Given the description of an element on the screen output the (x, y) to click on. 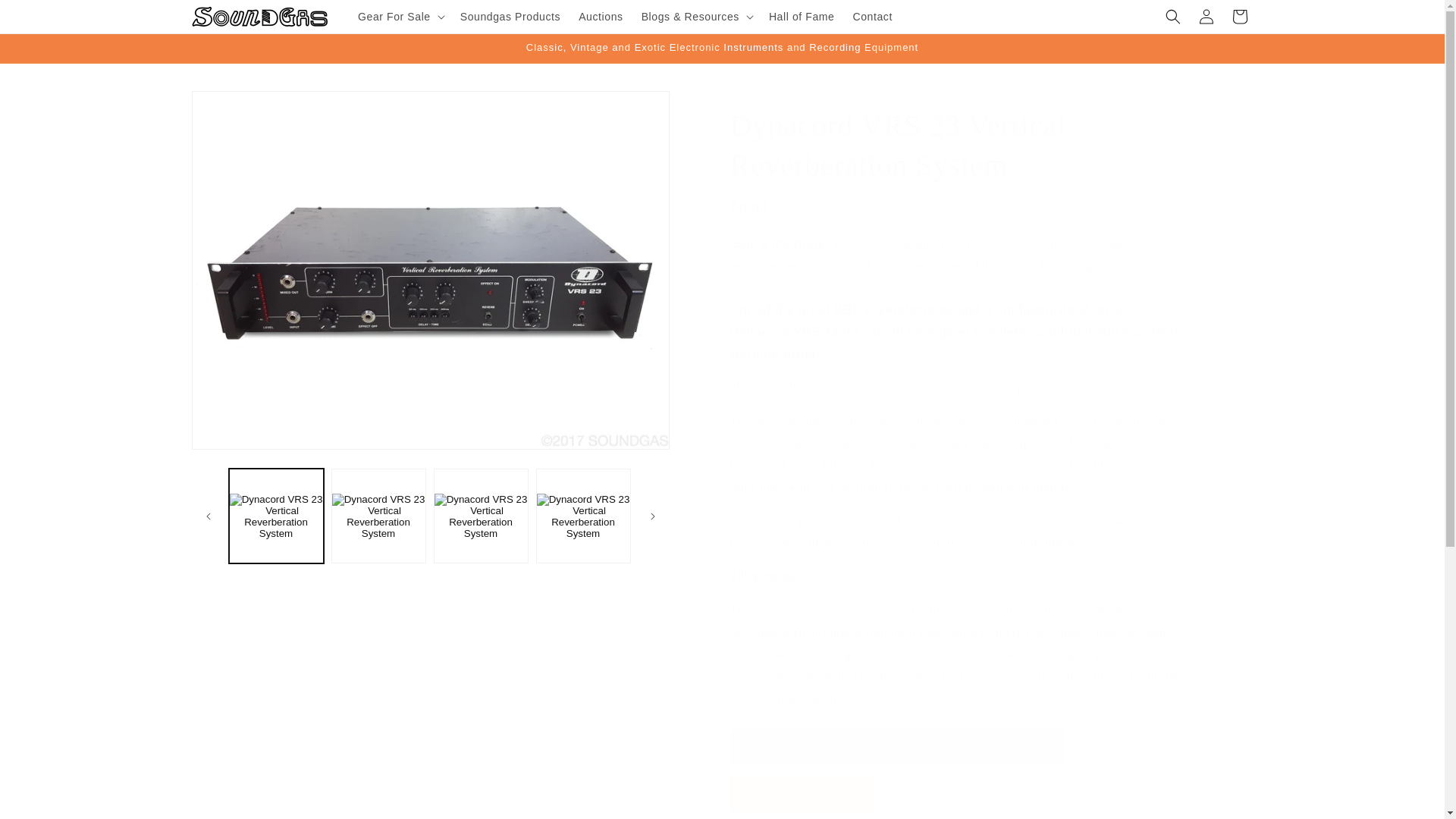
Skip to content (45, 17)
